Given the description of an element on the screen output the (x, y) to click on. 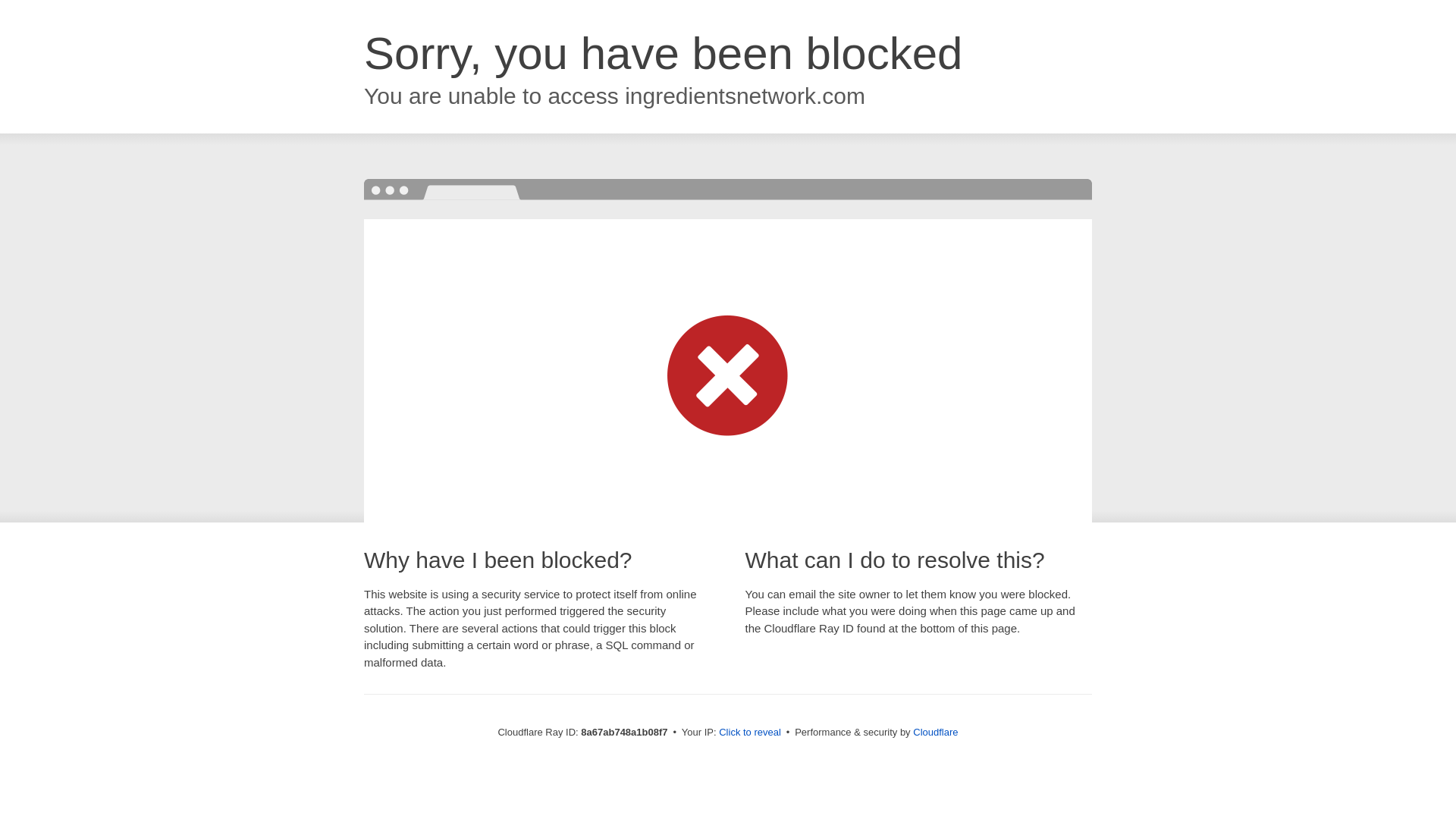
Click to reveal (749, 732)
Cloudflare (935, 731)
